Given the description of an element on the screen output the (x, y) to click on. 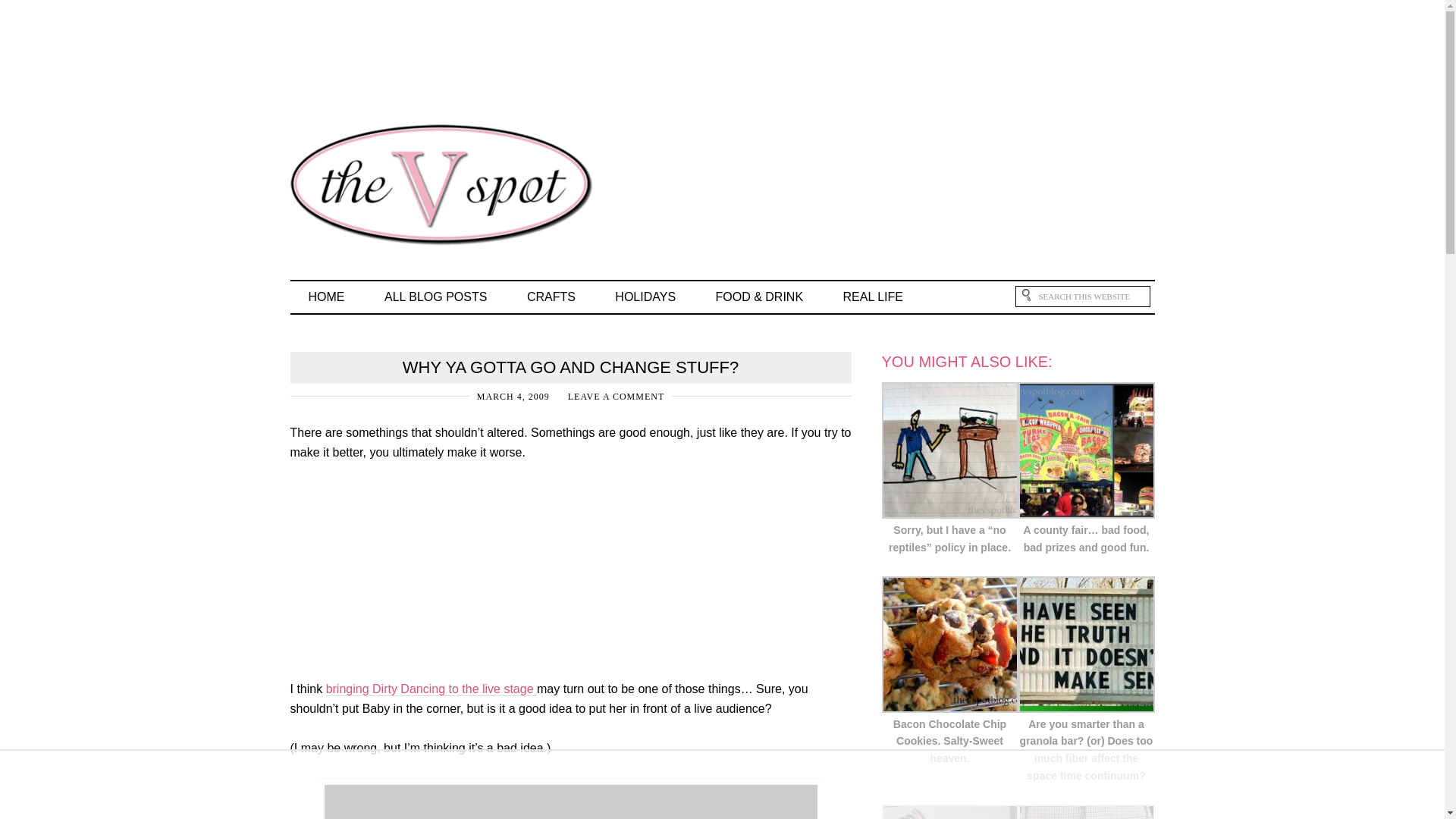
THE V SPOT (410, 178)
ALL BLOG POSTS (435, 296)
CRAFTS (551, 296)
HOLIDAYS (645, 296)
HOME (325, 296)
